Given the description of an element on the screen output the (x, y) to click on. 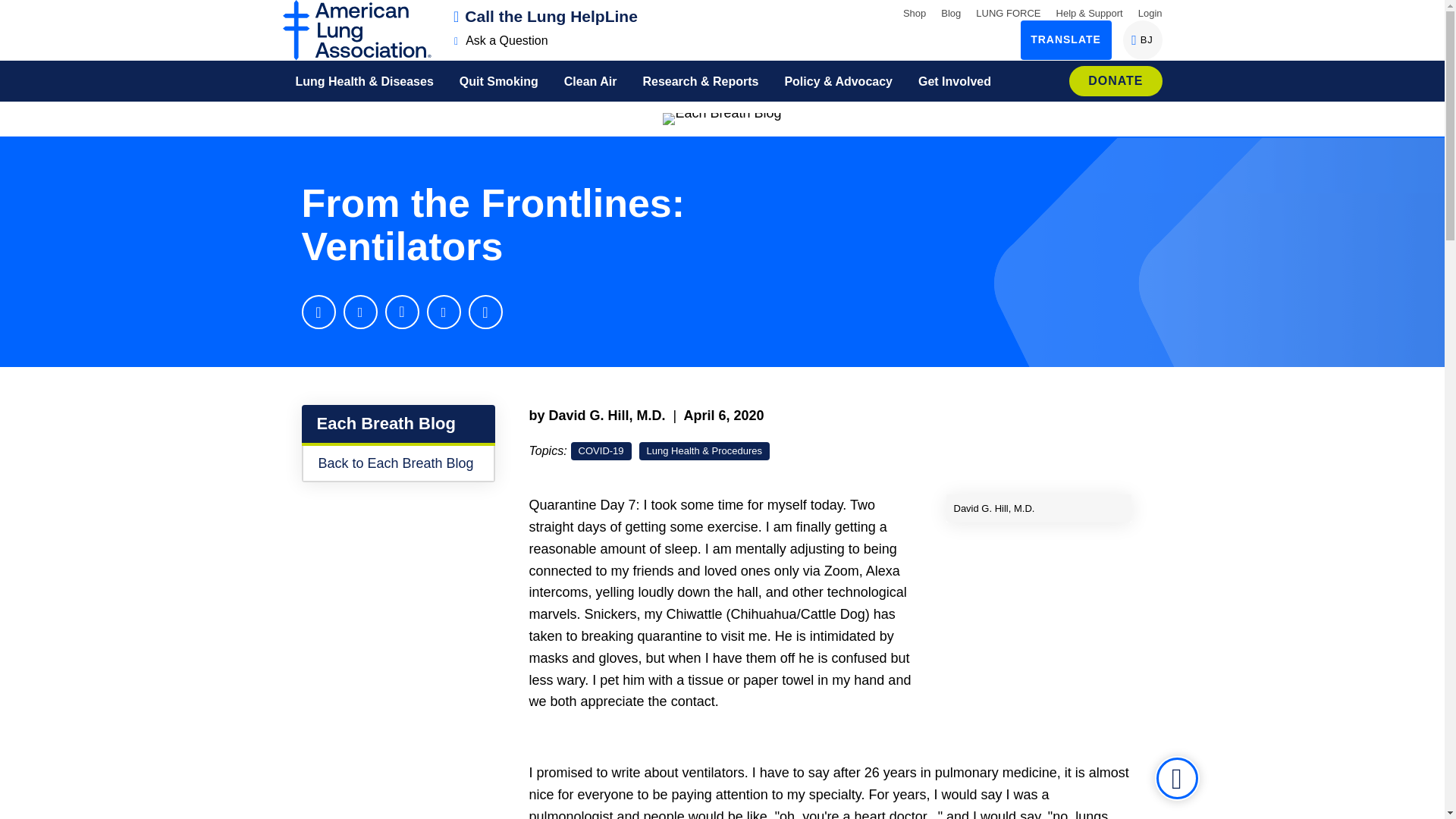
TRANSLATE (1066, 39)
LUNG FORCE (1008, 13)
SKIP TO MAIN CONTENT (18, 10)
Call the Lung HelpLine (1141, 39)
Ask a Question (545, 16)
Blog (501, 40)
Shop (950, 13)
Login (914, 13)
